Given the description of an element on the screen output the (x, y) to click on. 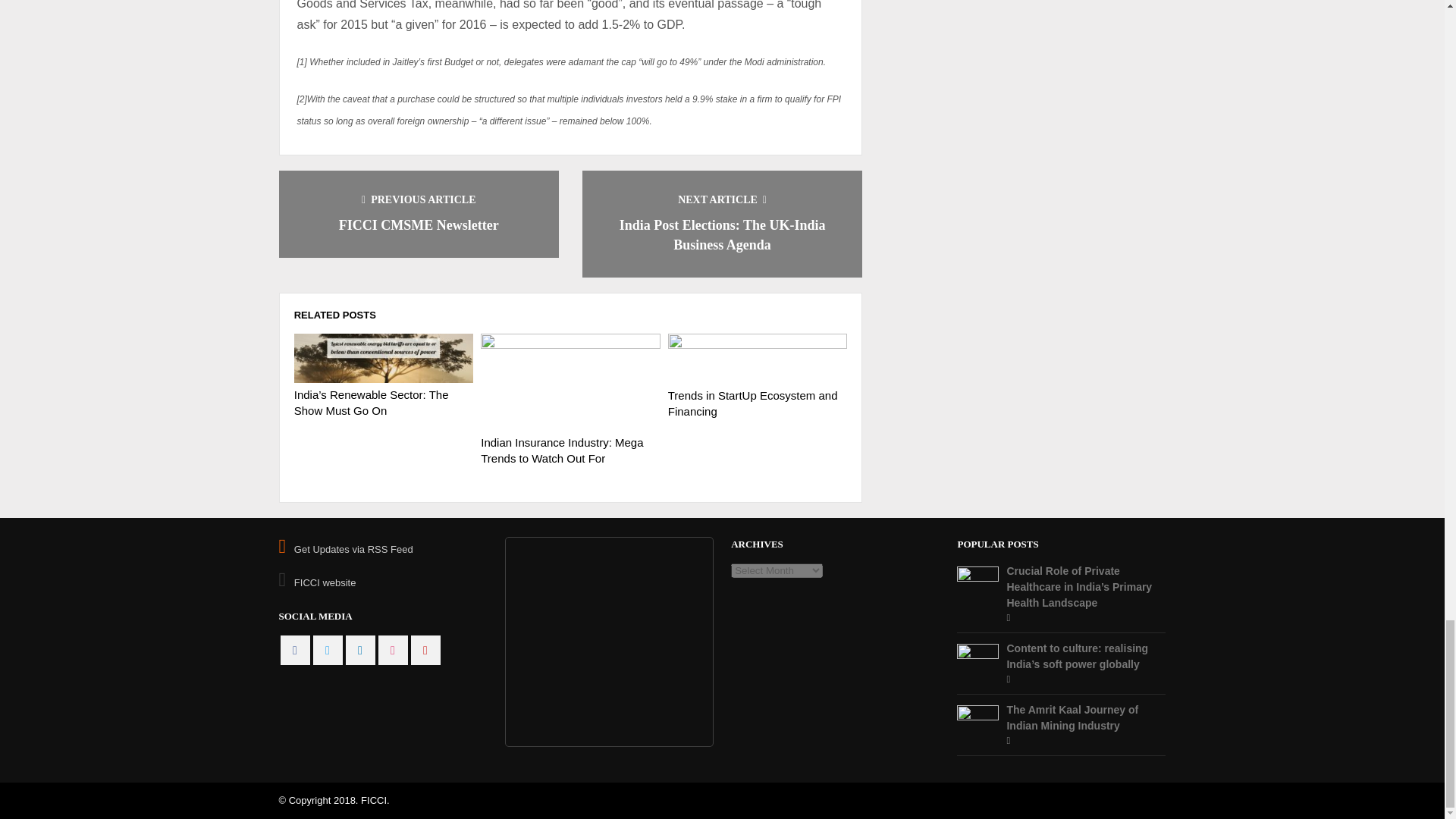
Indian Insurance Industry: Mega Trends to Watch Out For (561, 450)
Indian Insurance Industry: Mega Trends to Watch Out For (561, 450)
Indian Insurance Industry: Mega Trends to Watch Out For (569, 381)
Trends in StartUp Ecosystem and Financing (757, 358)
FICCI CMSME Newsletter (419, 224)
Trends in StartUp Ecosystem and Financing (753, 403)
India Post Elections: The UK-India Business Agenda (722, 234)
Trends in StartUp Ecosystem and Financing (753, 403)
